Given the description of an element on the screen output the (x, y) to click on. 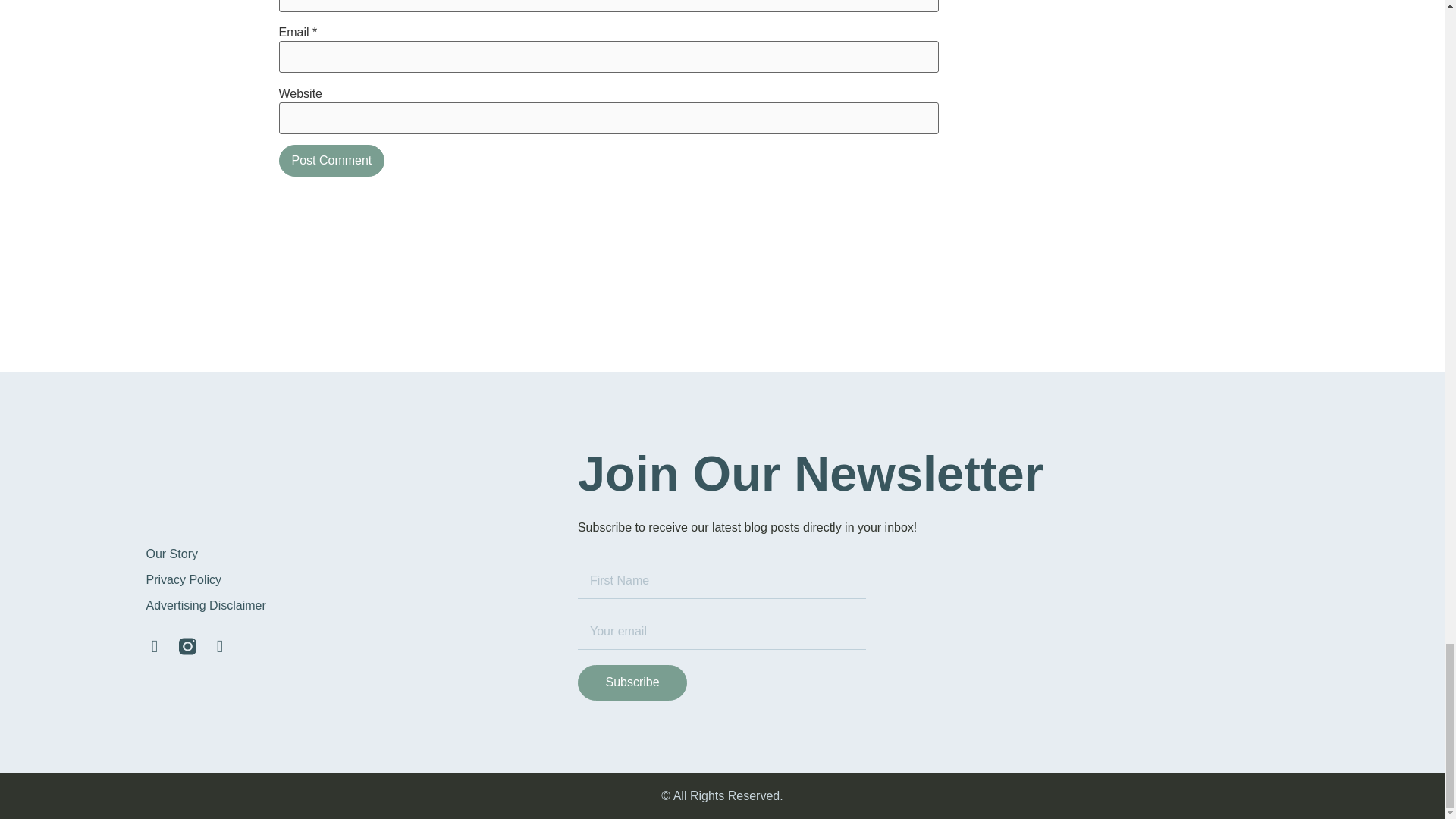
Post Comment (332, 160)
